Given the description of an element on the screen output the (x, y) to click on. 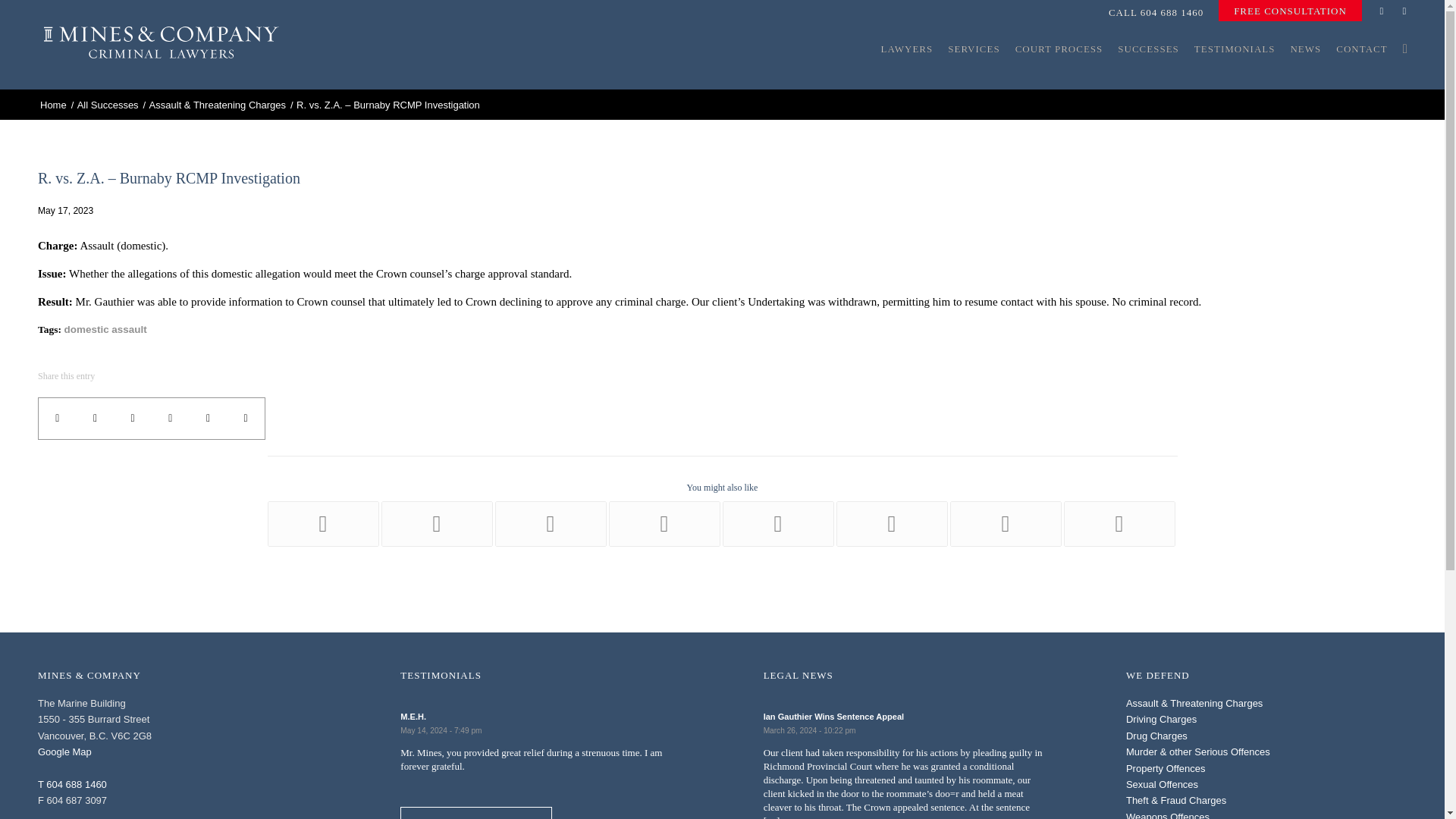
Twitter (1404, 11)
604 688 1460 (1172, 12)
SERVICES (973, 77)
Facebook (1381, 11)
FREE CONSULTATION (1289, 10)
LAWYERS (906, 77)
